Given the description of an element on the screen output the (x, y) to click on. 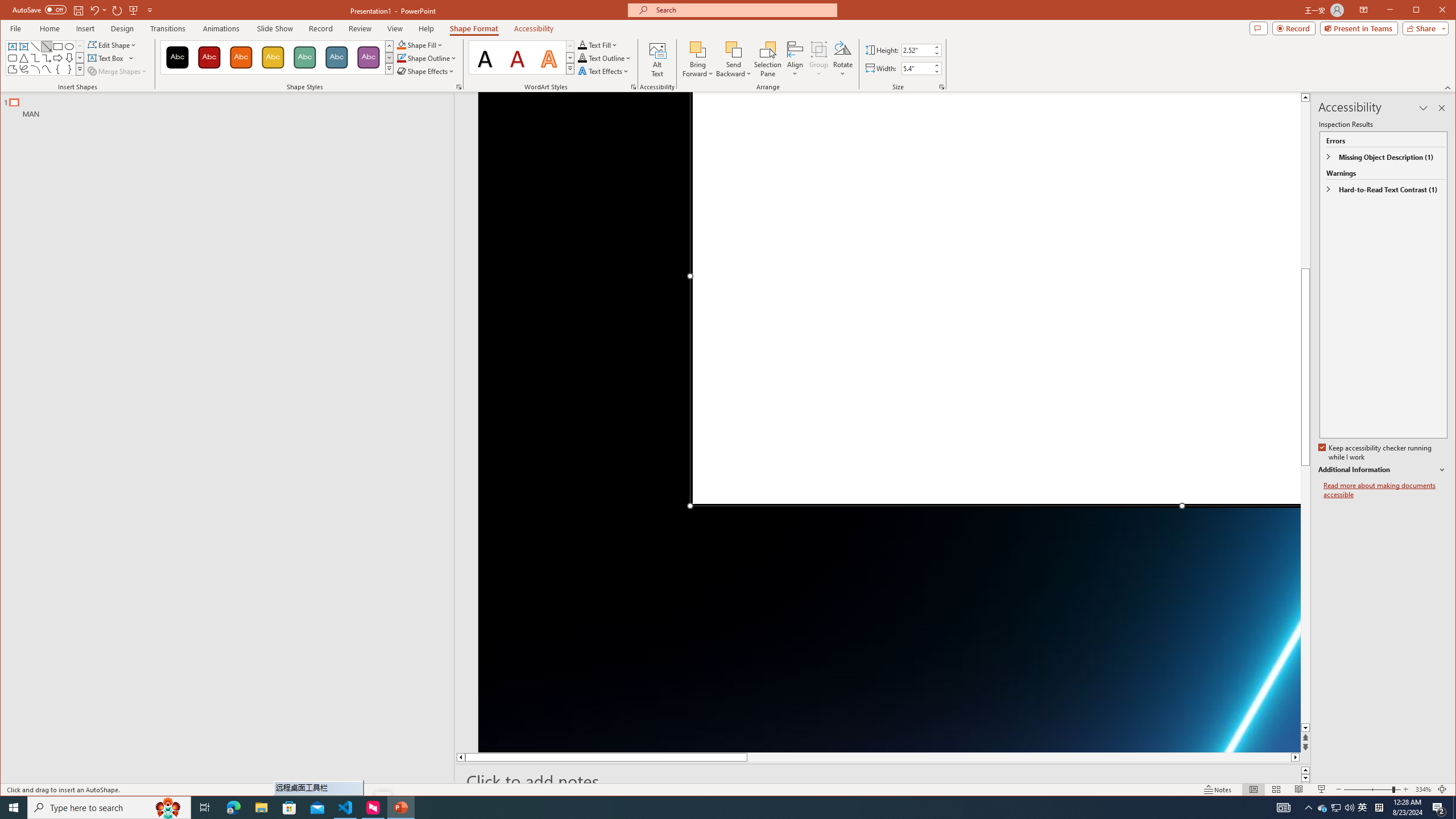
AutomationID: ShapesInsertGallery (45, 57)
Send Backward (733, 48)
Shape Outline Blue, Accent 1 (400, 57)
Arc (34, 69)
Tray Input Indicator - Chinese (Simplified, China) (1378, 807)
Line down (1305, 728)
Shape Width (916, 68)
Page up (1305, 177)
Arrow: Right (58, 57)
Fill: Dark Red, Accent color 1; Shadow (517, 57)
Microsoft Edge (233, 807)
